Given the description of an element on the screen output the (x, y) to click on. 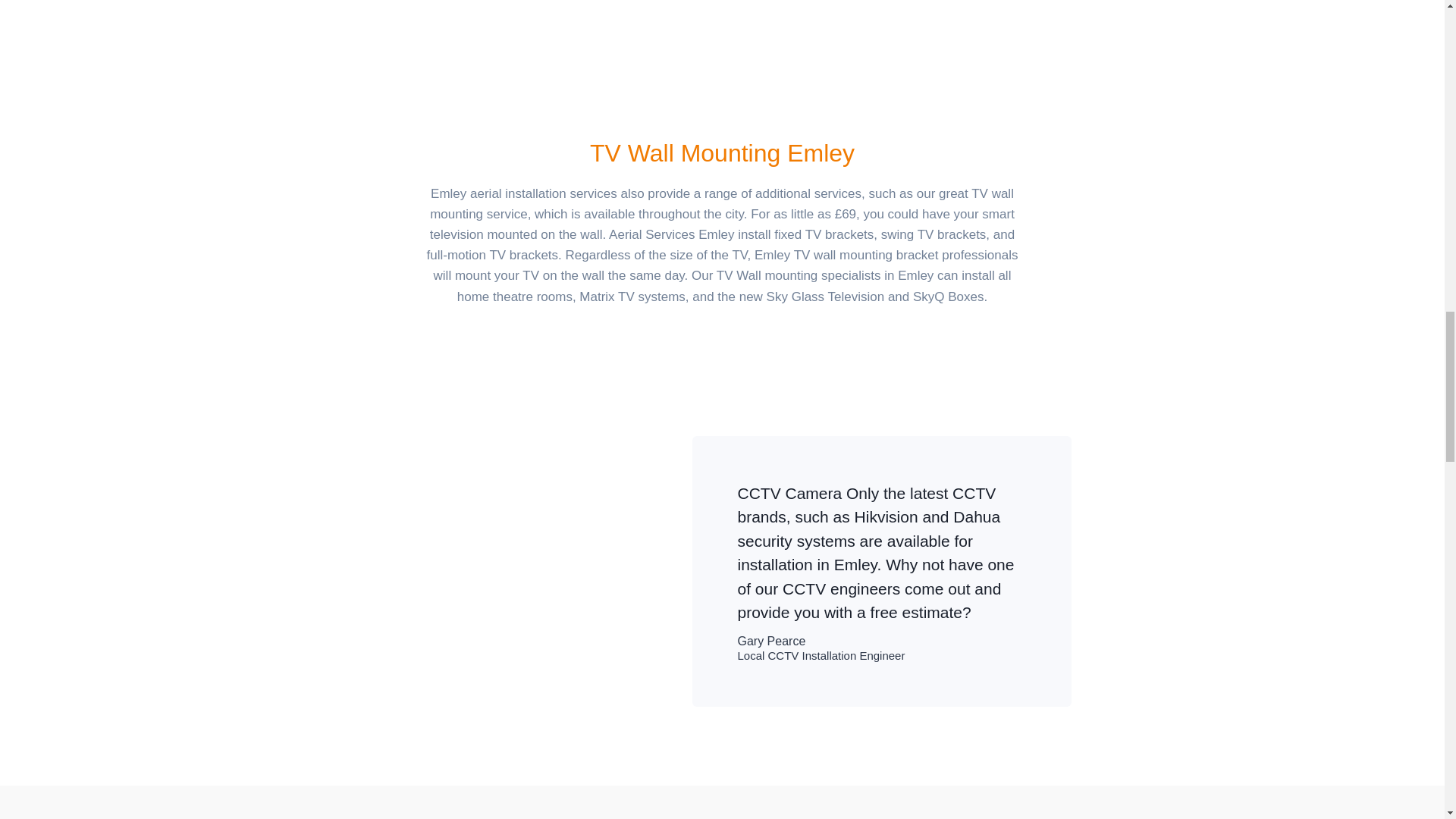
Aerial Installation Emley 9 (566, 49)
Aerial Installation Emley 11 (877, 49)
